Given the description of an element on the screen output the (x, y) to click on. 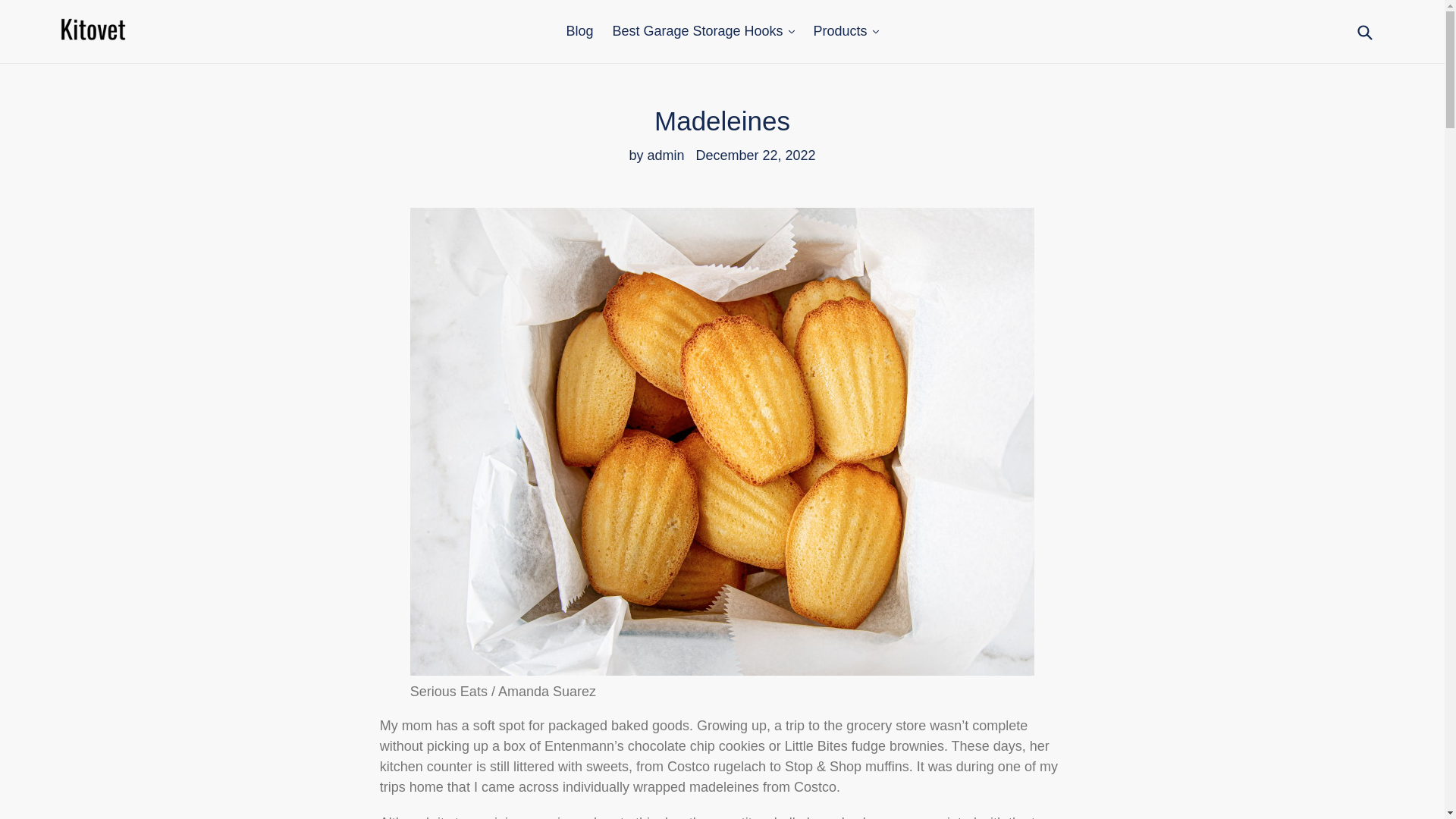
Blog (578, 31)
